Given the description of an element on the screen output the (x, y) to click on. 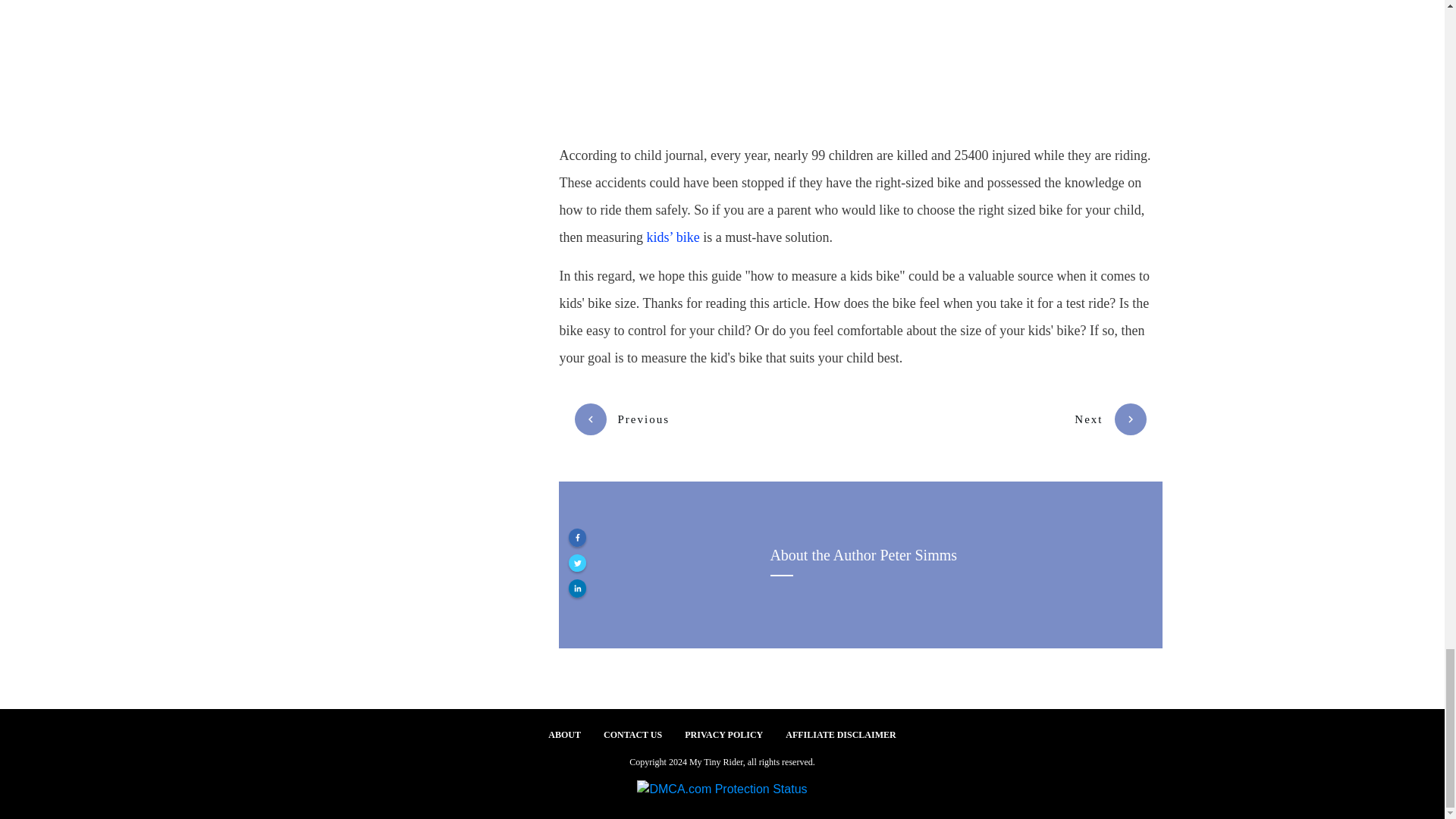
PRIVACY POLICY (723, 734)
DMCA.com Protection Status (721, 788)
AFFILIATE DISCLAIMER (840, 734)
ABOUT (564, 734)
CONTACT US (633, 734)
Next (1109, 418)
Peter Simms (917, 555)
Previous (622, 418)
Peter Simms (917, 555)
My Tiny Rider (715, 761)
